Given the description of an element on the screen output the (x, y) to click on. 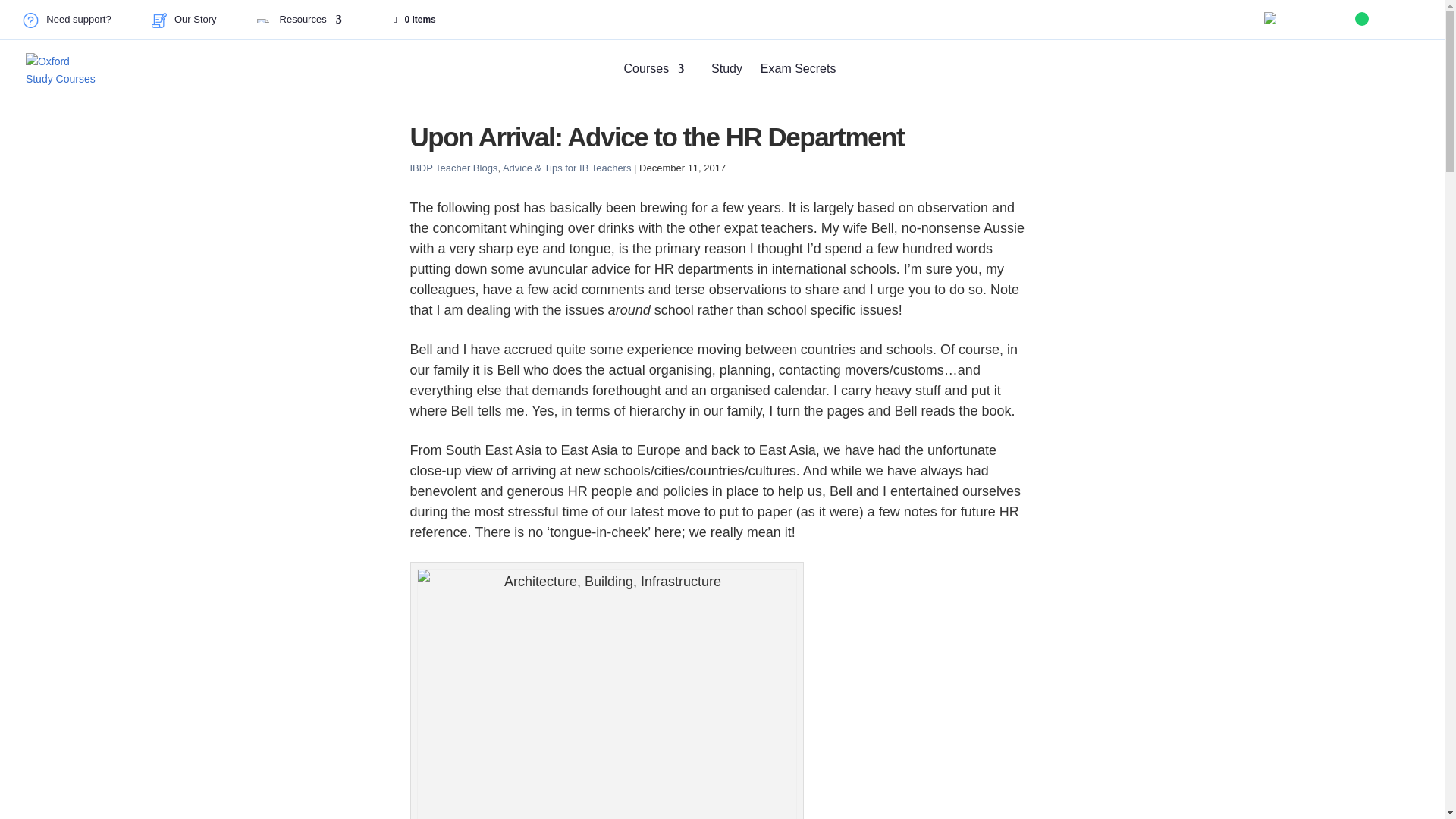
Educator (1400, 21)
Resources (299, 27)
IBDP Teacher Blogs (453, 167)
Need support? (67, 24)
0 Items (413, 19)
Exam Secrets (798, 80)
Study (726, 80)
Our Story (183, 24)
Courses (649, 80)
Student (1309, 21)
